Given the description of an element on the screen output the (x, y) to click on. 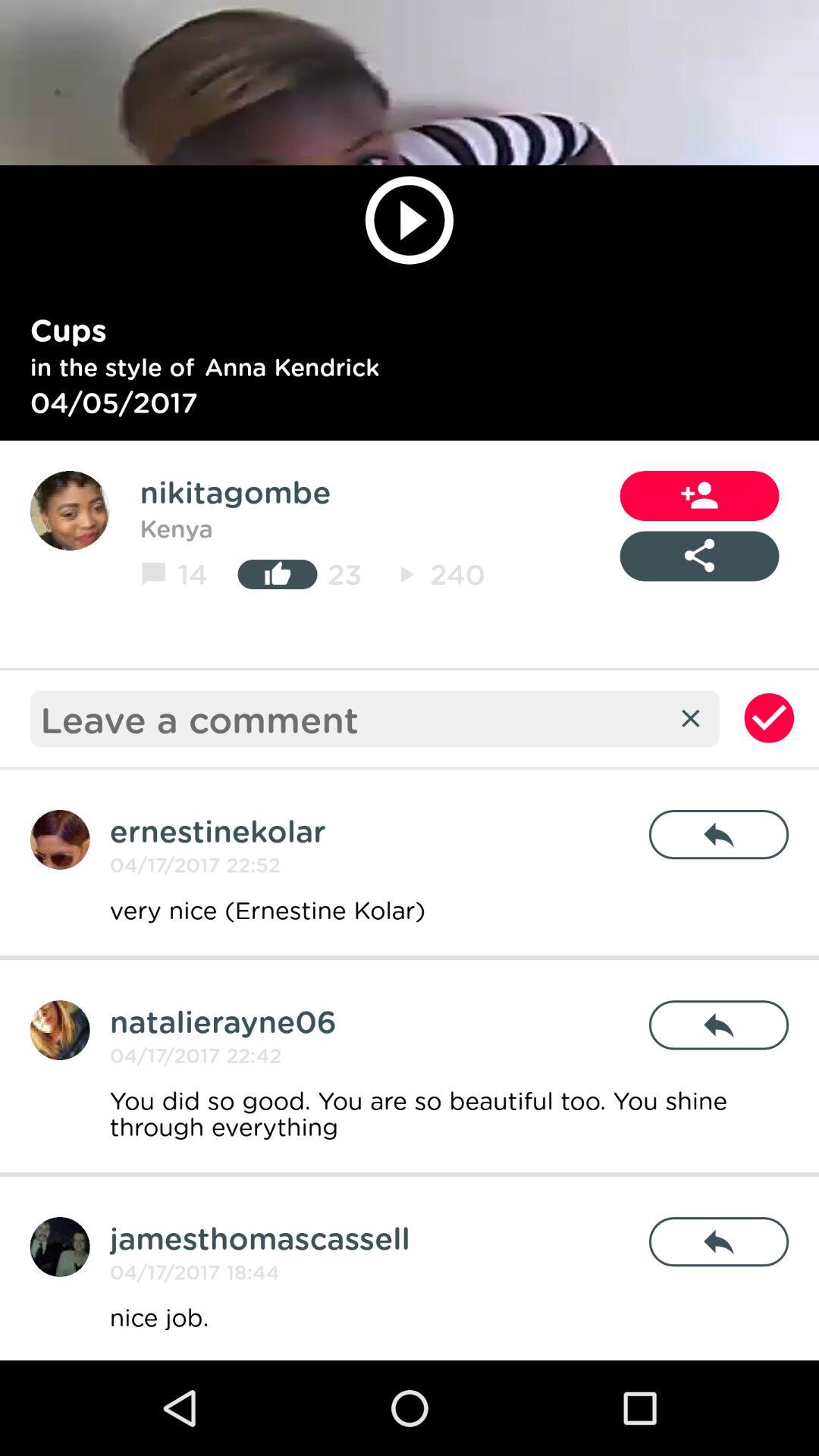
show image of commenting person (59, 1246)
